Given the description of an element on the screen output the (x, y) to click on. 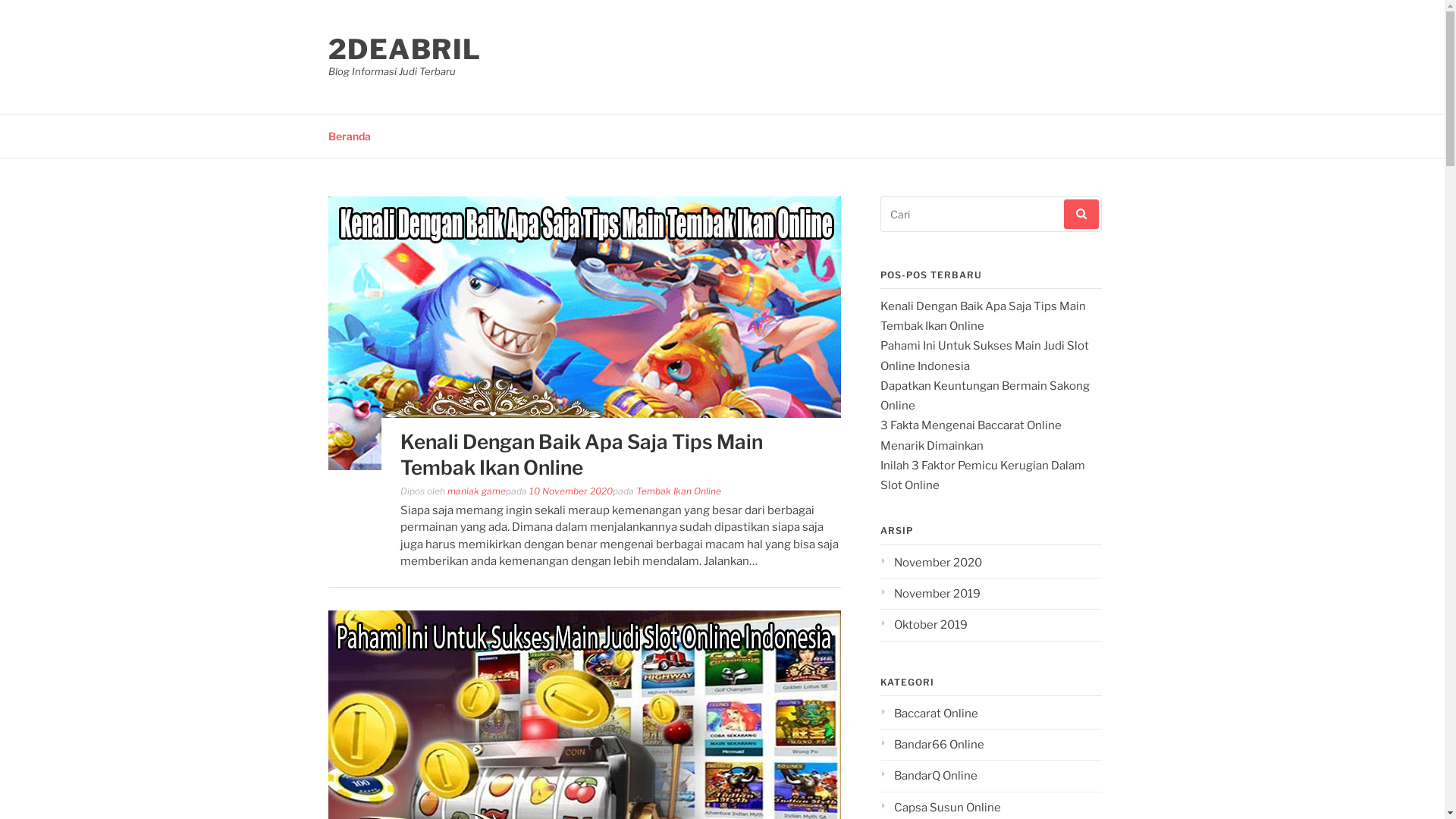
Capsa Susun Online Element type: text (939, 807)
Baccarat Online Element type: text (928, 713)
Kenali Dengan Baik Apa Saja Tips Main Tembak Ikan Online Element type: text (982, 315)
November 2019 Element type: text (929, 593)
10 November 2020 Element type: text (570, 490)
Bandar66 Online Element type: text (931, 744)
2DEABRIL Element type: text (403, 48)
Kenali Dengan Baik Apa Saja Tips Main Tembak Ikan Online Element type: text (581, 454)
Dapatkan Keuntungan Bermain Sakong Online Element type: text (983, 395)
BandarQ Online Element type: text (927, 775)
Kenali Dengan Baik Apa Saja Tips Main Tembak Ikan Online Element type: hover (583, 466)
Tembak Ikan Online Element type: text (677, 490)
November 2020 Element type: text (930, 562)
3 Fakta Mengenai Baccarat Online Menarik Dimainkan Element type: text (969, 434)
maniak game Element type: text (476, 490)
Pahami Ini Untuk Sukses Main Judi Slot Online Indonesia Element type: text (983, 355)
Beranda Element type: text (348, 134)
Oktober 2019 Element type: text (922, 624)
Inilah 3 Faktor Pemicu Kerugian Dalam Slot Online Element type: text (981, 475)
